Given the description of an element on the screen output the (x, y) to click on. 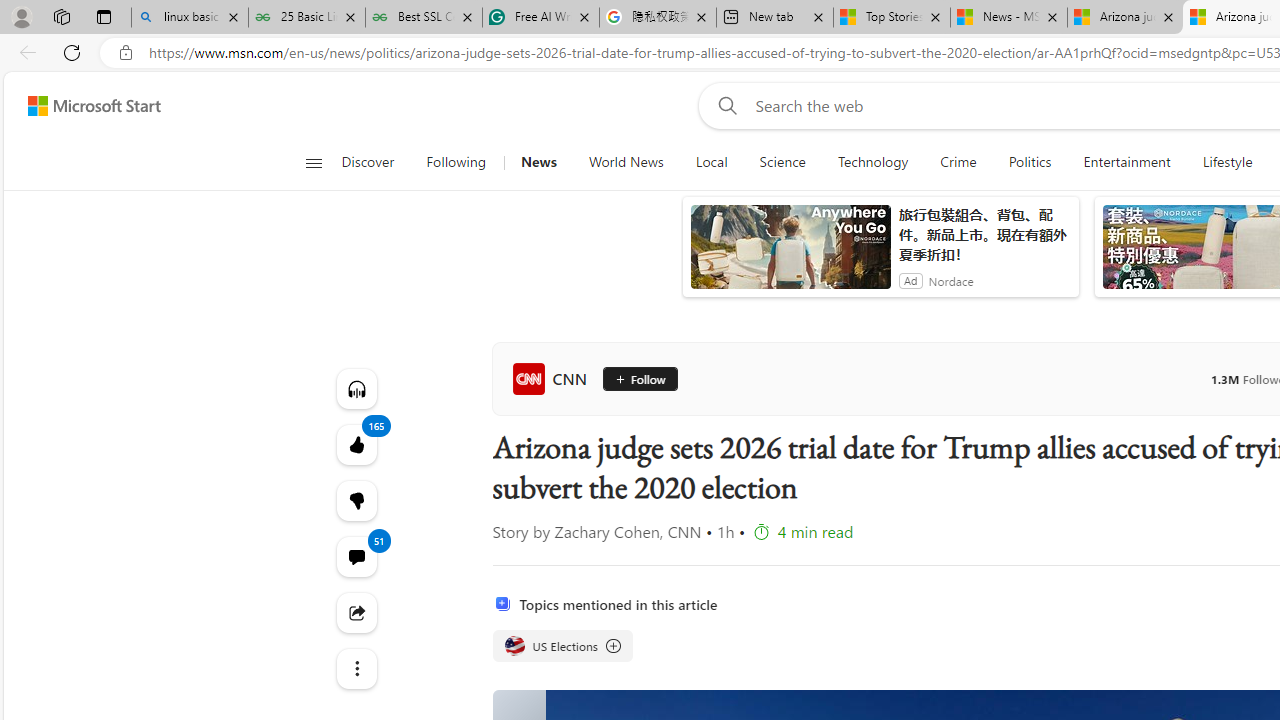
Class: button-glyph (313, 162)
World News (625, 162)
View comments 51 Comment (356, 556)
Politics (1029, 162)
165 (356, 500)
Entertainment (1126, 162)
Top Stories - MSN (891, 17)
165 Like (356, 444)
News - MSN (1009, 17)
Lifestyle (1227, 162)
Crime (958, 162)
linux basic - Search (189, 17)
